Given the description of an element on the screen output the (x, y) to click on. 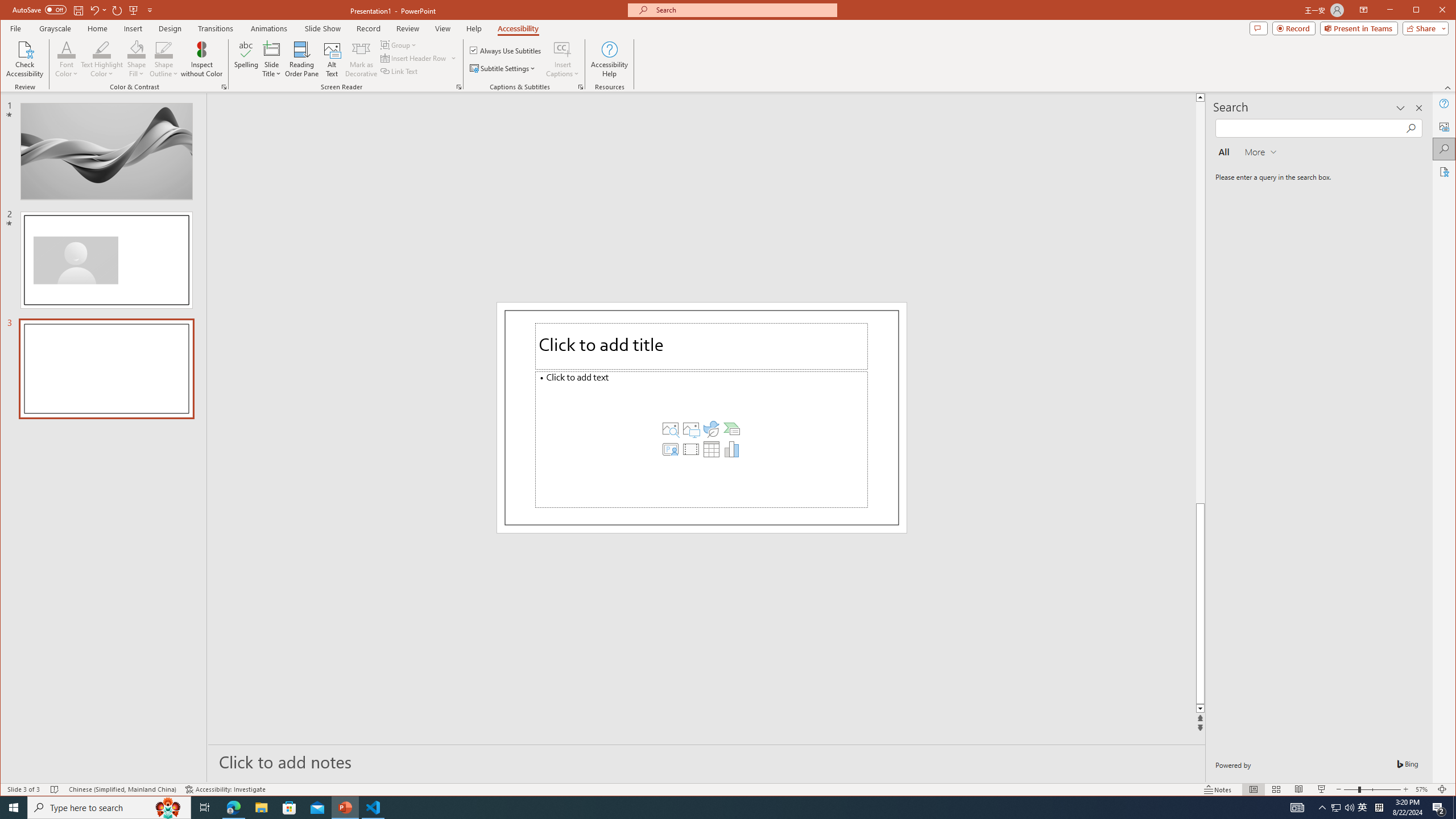
Screen Reader (458, 86)
